Given the description of an element on the screen output the (x, y) to click on. 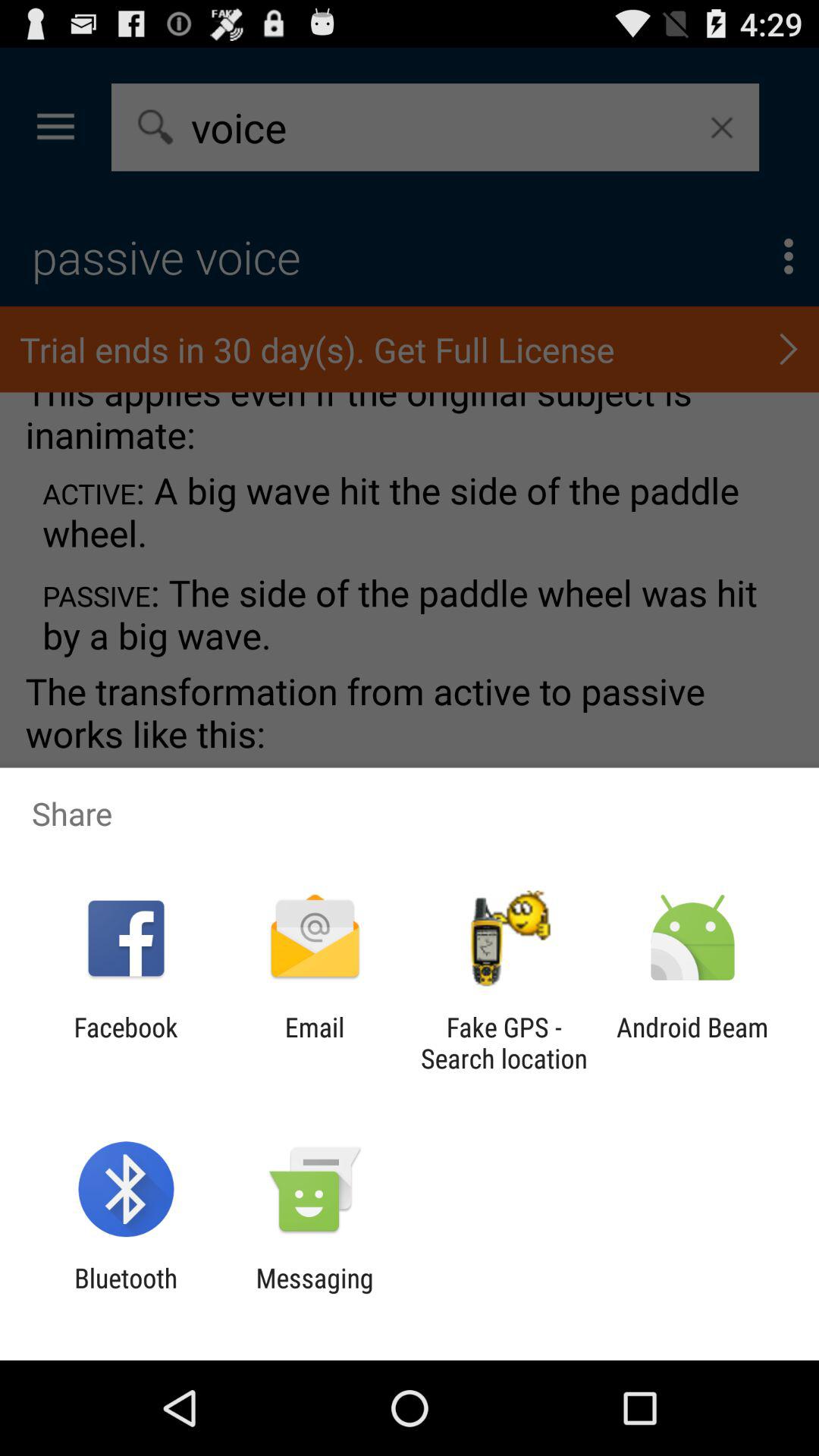
flip until facebook item (125, 1042)
